Given the description of an element on the screen output the (x, y) to click on. 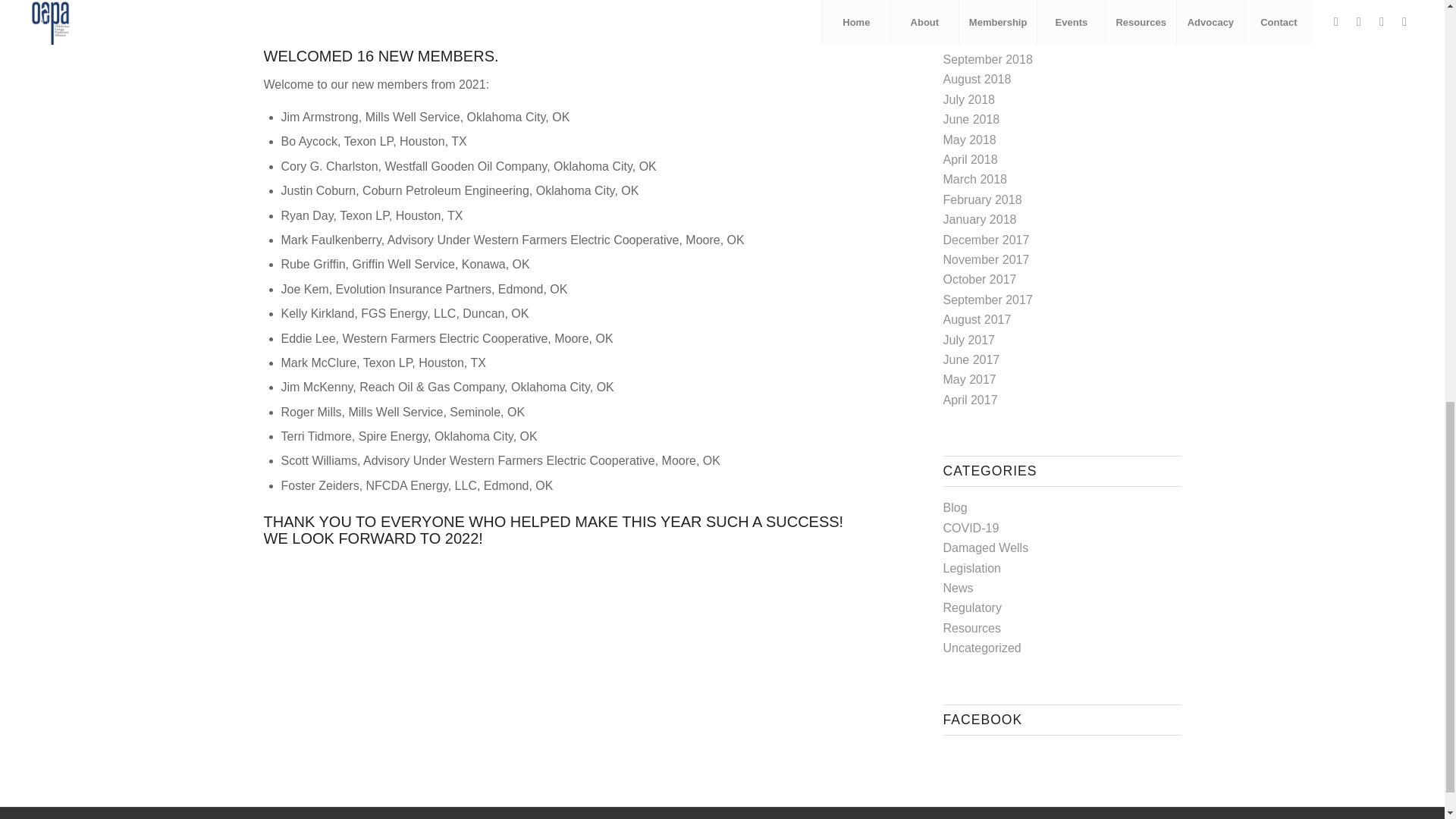
Mail (1169, 816)
Facebook (1101, 816)
Youtube (1146, 816)
Linkedin (1124, 816)
